Given the description of an element on the screen output the (x, y) to click on. 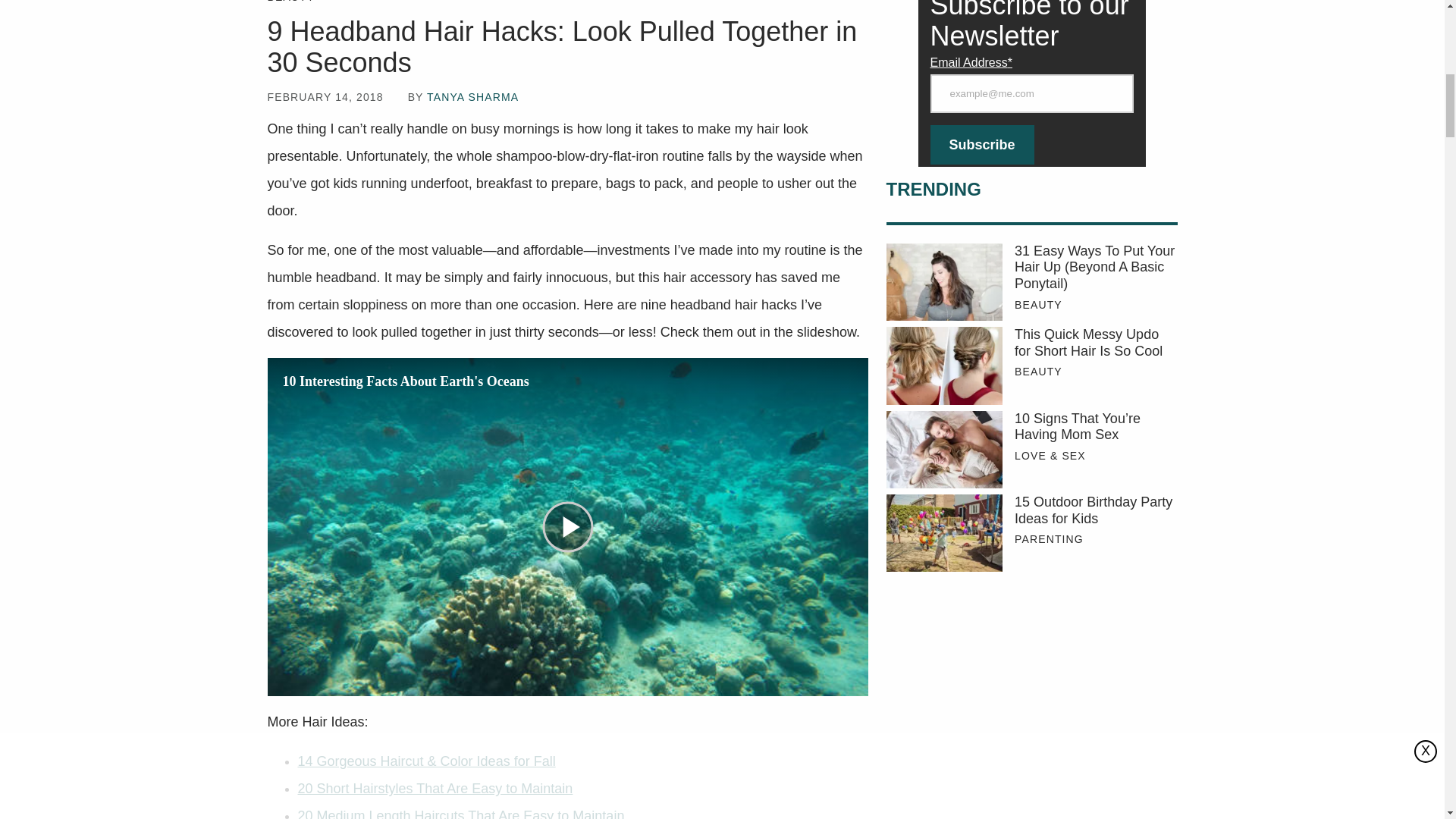
15 Outdoor Birthday Party Ideas for Kids (944, 532)
This Quick Messy Updo for Short Hair Is So Cool (944, 365)
20 Medium Length Haircuts That Are Easy to Maintain (460, 813)
15 Outdoor Birthday Party Ideas for Kids (1095, 510)
20 Short Hairstyles That Are Easy to Maintain (434, 788)
This Quick Messy Updo for Short Hair Is So Cool (1095, 342)
TANYA SHARMA (472, 96)
BEAUTY (290, 2)
